Given the description of an element on the screen output the (x, y) to click on. 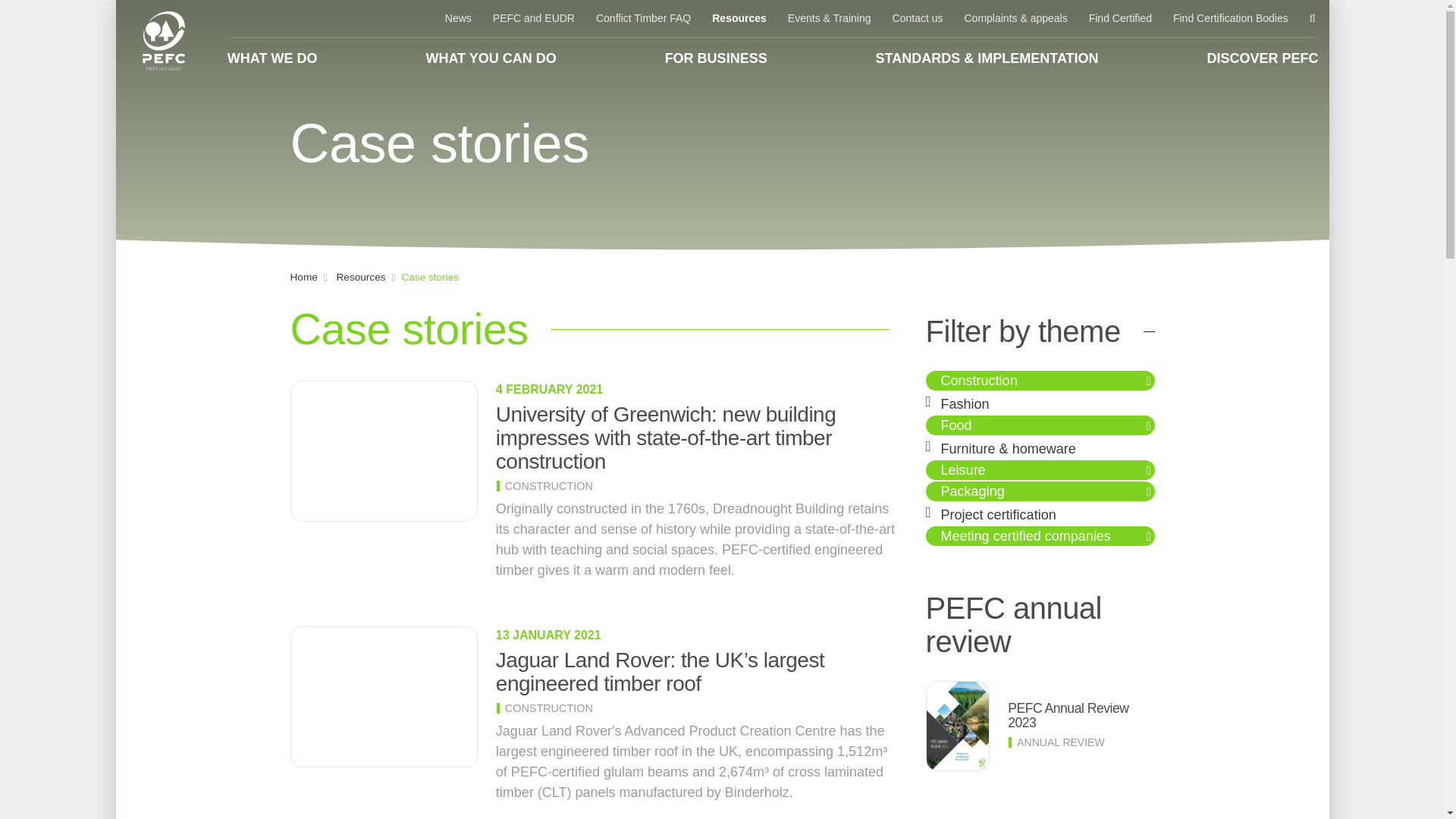
Filter by Project certification (998, 514)
Filter by Packaging (972, 491)
Filter by Construction (978, 380)
PEFC and EUDR (533, 18)
Filter by Leisure (962, 469)
News (457, 18)
Filter by Food (956, 425)
Find Certified (1119, 18)
Conflict Timber FAQ (643, 18)
Filter by Meeting certified companies (1025, 535)
WHAT YOU CAN DO (490, 58)
Filter by Fashion (965, 403)
WHAT WE DO (272, 58)
Contact us (917, 18)
Resources (739, 18)
